Given the description of an element on the screen output the (x, y) to click on. 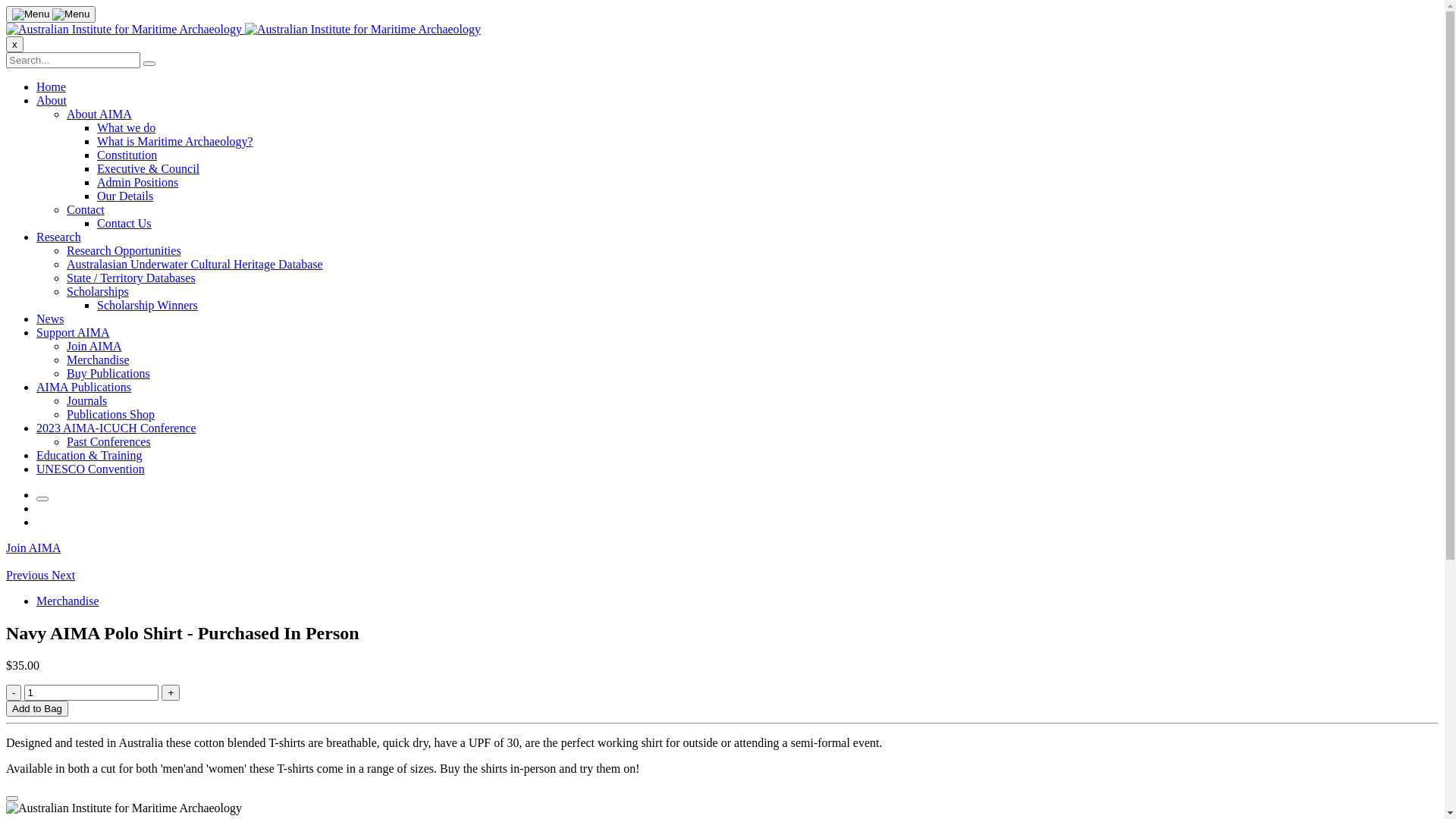
Merchandise Element type: text (97, 359)
AIMA Publications Element type: text (83, 386)
Research Opportunities Element type: text (123, 250)
Scholarship Winners Element type: text (147, 304)
Next Element type: text (63, 574)
Research Element type: text (58, 236)
Past Conferences Element type: text (108, 441)
About Element type: text (51, 100)
Join AIMA Element type: text (93, 345)
+ Element type: text (170, 692)
State / Territory Databases Element type: text (130, 277)
Journals Element type: text (86, 400)
Join AIMA Element type: text (33, 547)
Executive & Council Element type: text (148, 168)
Our Details Element type: text (125, 195)
- Element type: text (13, 692)
2023 AIMA-ICUCH Conference Element type: text (116, 427)
Buy Publications Element type: text (108, 373)
x Element type: text (14, 44)
About AIMA Element type: text (98, 113)
Education & Training Element type: text (89, 454)
What is Maritime Archaeology? Element type: text (175, 140)
Home Element type: text (50, 86)
Publications Shop Element type: text (110, 413)
Admin Positions Element type: text (137, 181)
Support AIMA Element type: text (72, 332)
News Element type: text (49, 318)
Merchandise Element type: text (67, 600)
UNESCO Convention Element type: text (90, 468)
Australasian Underwater Cultural Heritage Database Element type: text (194, 263)
What we do Element type: text (126, 127)
Previous Element type: text (28, 574)
Contact Us Element type: text (124, 222)
Add to Bag Element type: text (37, 708)
Scholarships Element type: text (97, 291)
Contact Element type: text (85, 209)
Constitution Element type: text (126, 154)
